Given the description of an element on the screen output the (x, y) to click on. 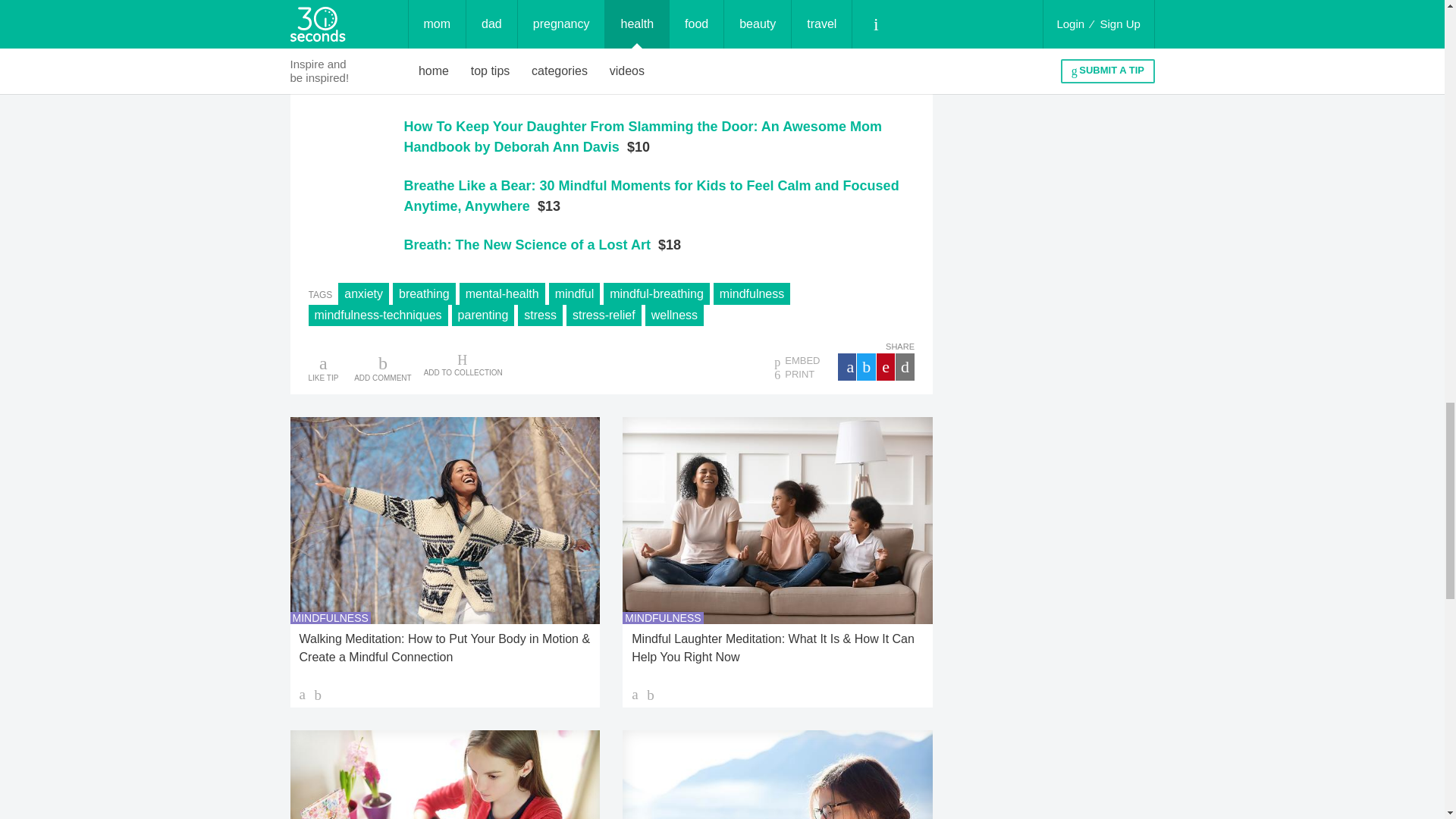
ADD COMMENT (382, 367)
